Given the description of an element on the screen output the (x, y) to click on. 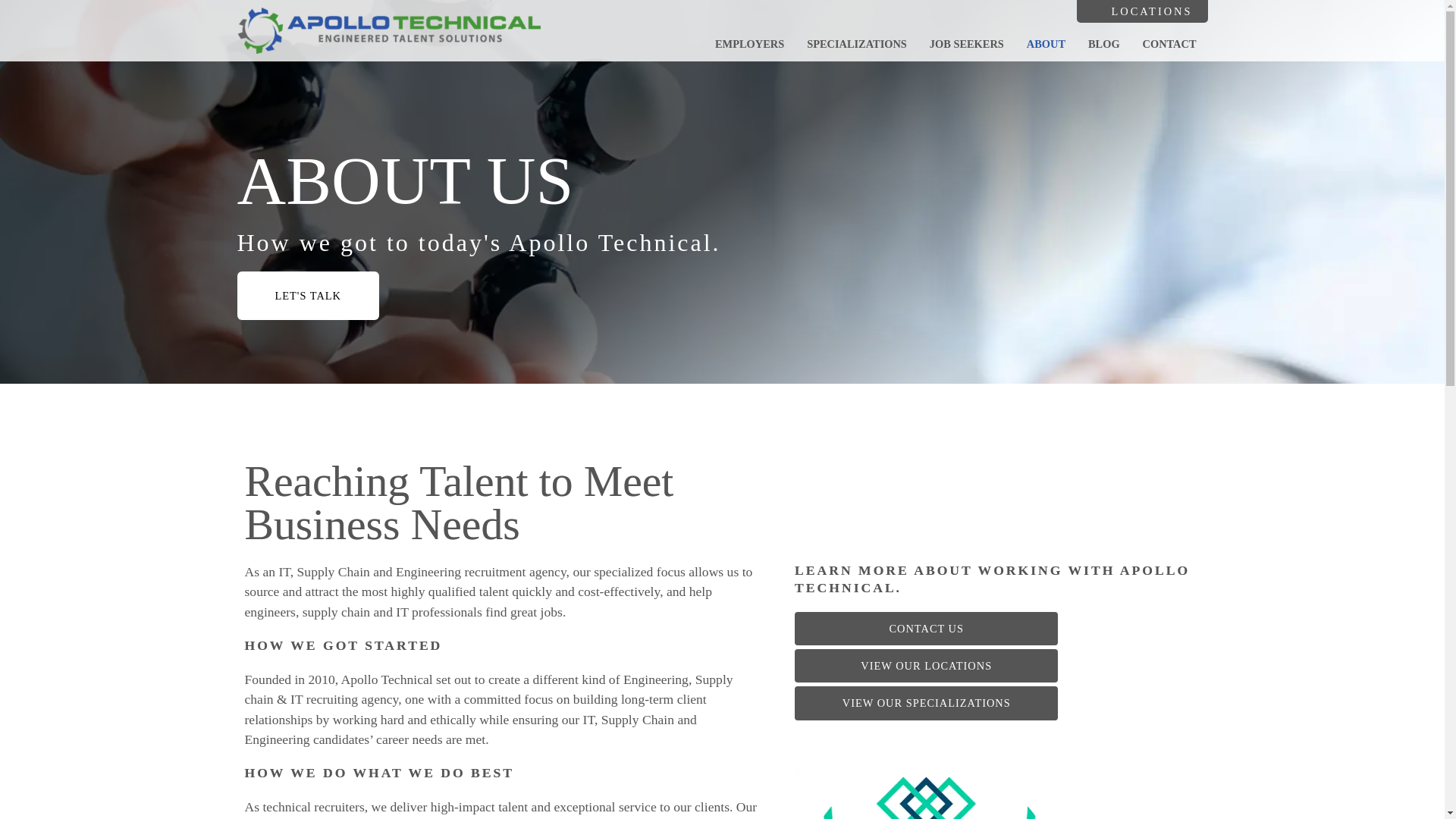
LOCATIONS (1141, 11)
ABOUT (1045, 43)
JOB SEEKERS (966, 43)
CONTACT (1169, 43)
SPECIALIZATIONS (856, 43)
BLOG (1104, 43)
EMPLOYERS (748, 43)
